Given the description of an element on the screen output the (x, y) to click on. 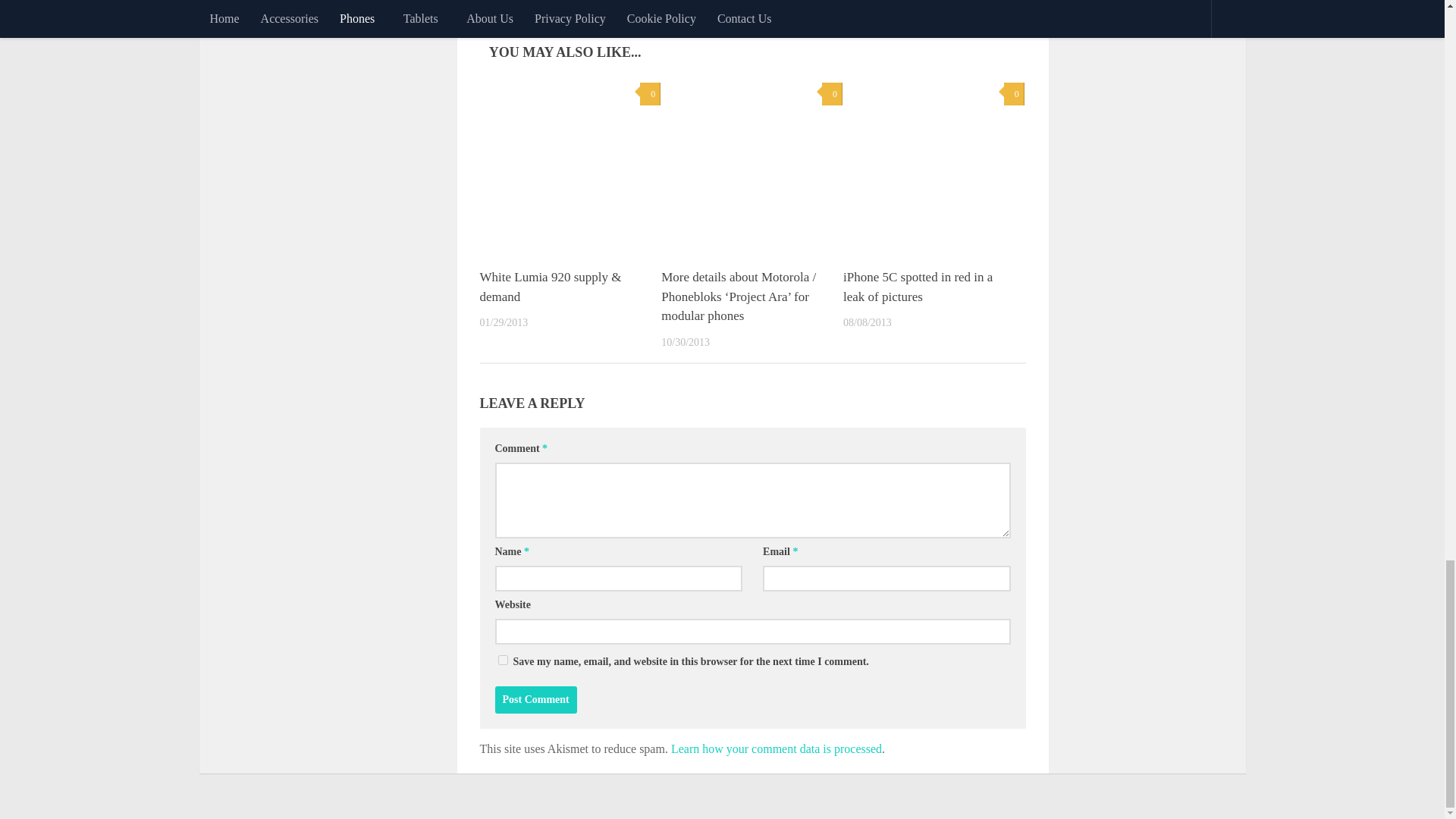
Post Comment (535, 699)
yes (501, 660)
